Given the description of an element on the screen output the (x, y) to click on. 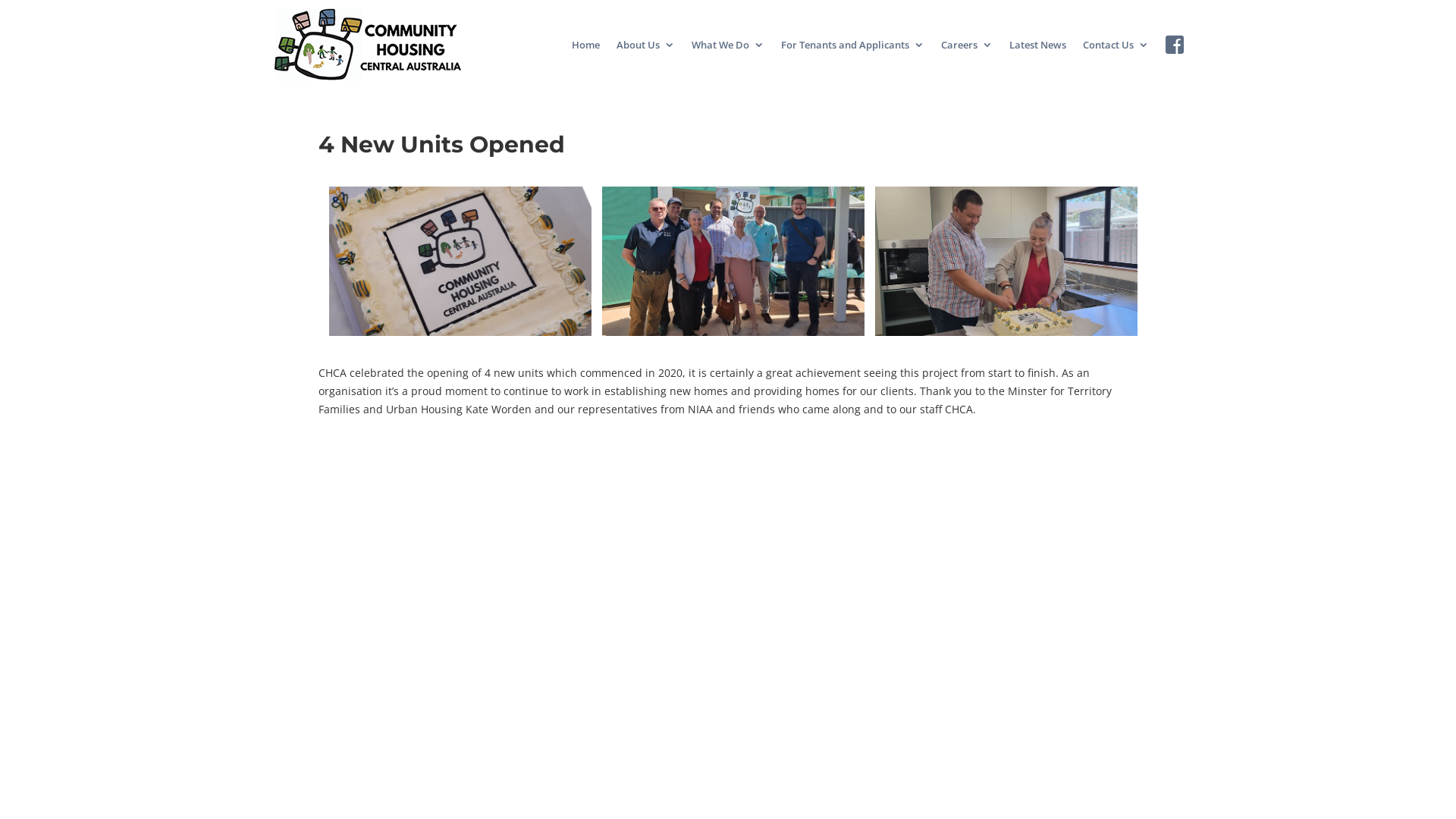
Careers Element type: text (966, 44)
Contact Us Element type: text (1115, 44)
Home Element type: text (585, 44)
What We Do Element type: text (727, 44)
For Tenants and Applicants Element type: text (852, 44)
Latest News Element type: text (1037, 44)
About Us Element type: text (645, 44)
